Given the description of an element on the screen output the (x, y) to click on. 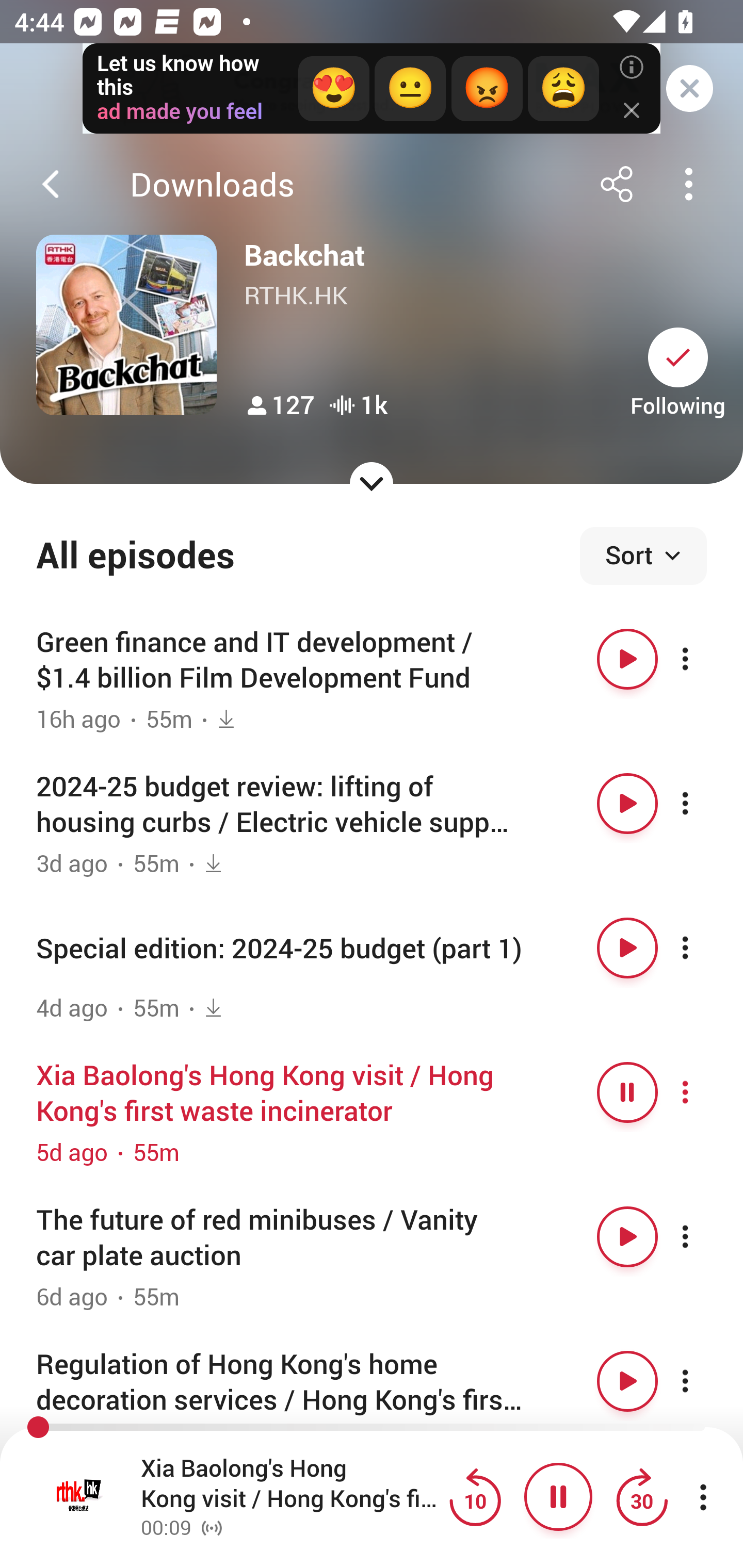
app-monetization (371, 88)
😍 (333, 88)
😐 (409, 88)
😡 (487, 88)
😩 (562, 88)
Back (50, 184)
Unsubscribe button (677, 357)
Sort episodes Sort (643, 555)
Play button (627, 659)
More options (703, 659)
Play button (627, 803)
More options (703, 803)
Play button (627, 947)
More options (703, 947)
Pause button (627, 1092)
More options (703, 1092)
Play button (627, 1236)
More options (703, 1236)
Play button (627, 1381)
More options (703, 1381)
Open fullscreen player (79, 1497)
More player controls (703, 1497)
Pause button (558, 1496)
Jump back (475, 1497)
Jump forward (641, 1497)
